Given the description of an element on the screen output the (x, y) to click on. 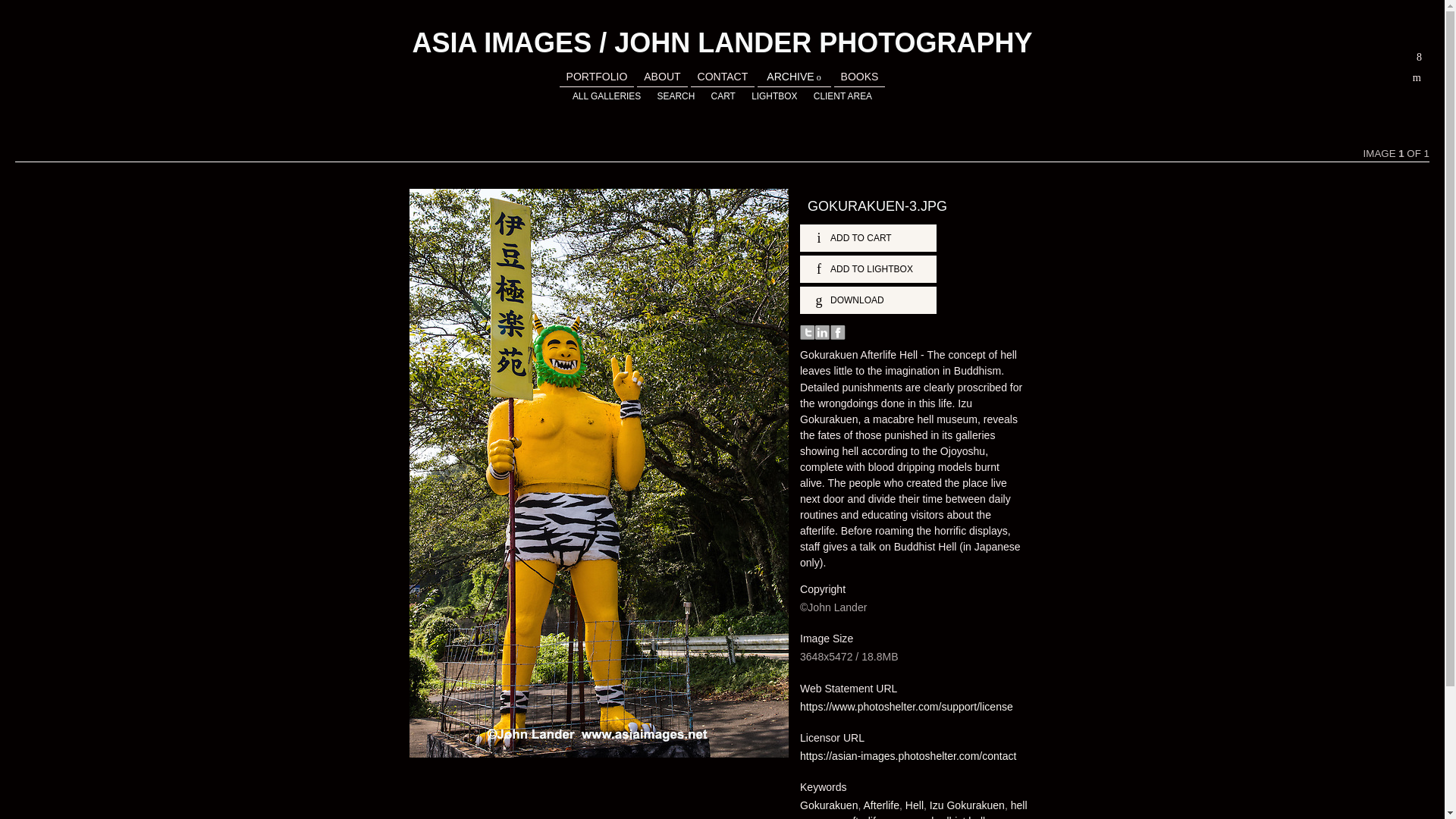
x (1419, 57)
ADD TO CART (867, 237)
budhist hell (958, 816)
ADD TO LIGHTBOX (867, 268)
Add to Cart (867, 237)
PORTFOLIO (596, 76)
Izu Gokurakuen (967, 805)
CONTACT (722, 76)
Hell (914, 805)
Gokurakuen (828, 805)
